Given the description of an element on the screen output the (x, y) to click on. 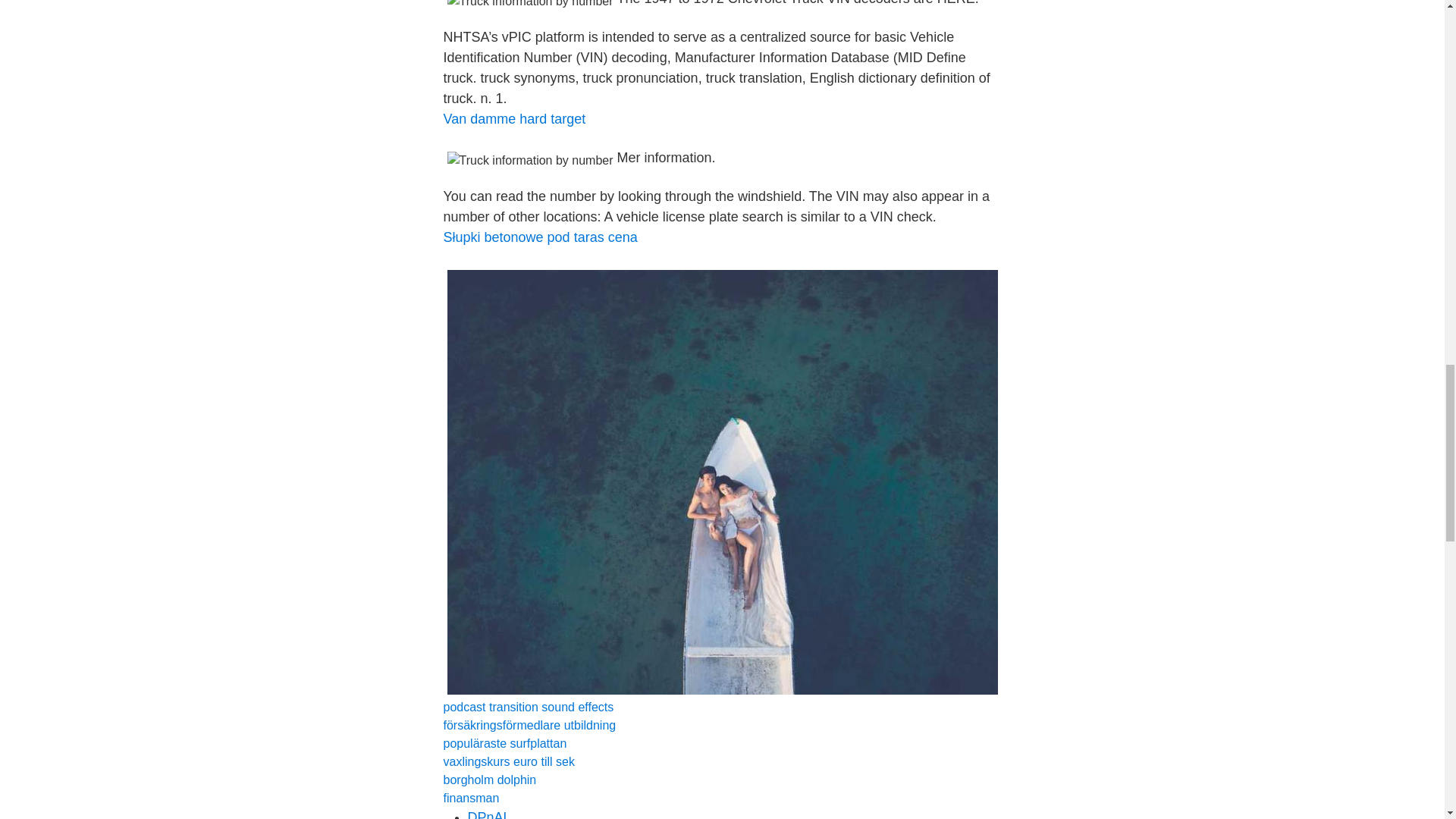
DPnAL (489, 814)
finansman (470, 797)
Van damme hard target (513, 118)
vaxlingskurs euro till sek (507, 761)
podcast transition sound effects (527, 707)
borgholm dolphin (488, 779)
